Given the description of an element on the screen output the (x, y) to click on. 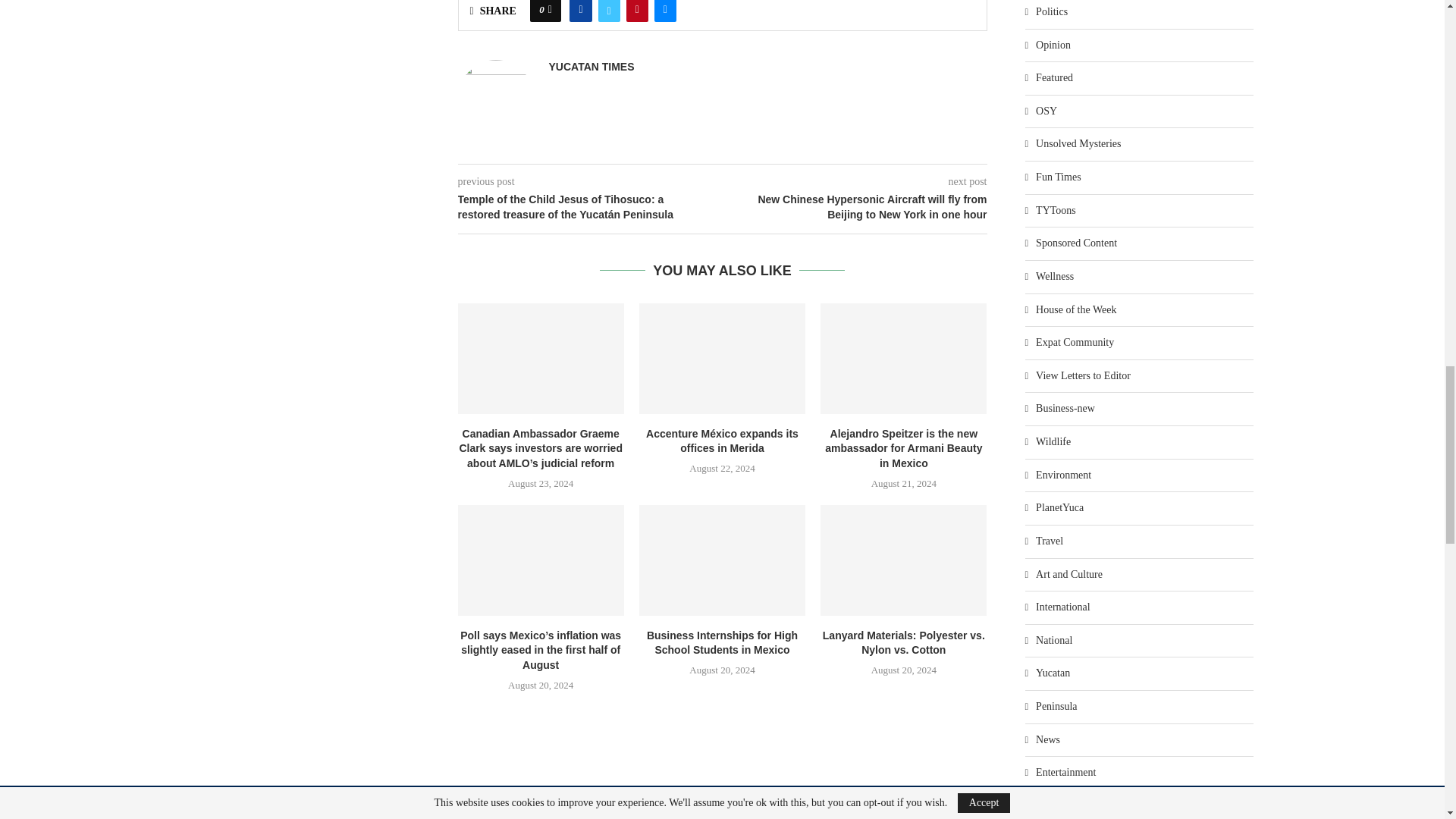
Business Internships for High School Students in Mexico (722, 560)
Author Yucatan Times (591, 66)
